Given the description of an element on the screen output the (x, y) to click on. 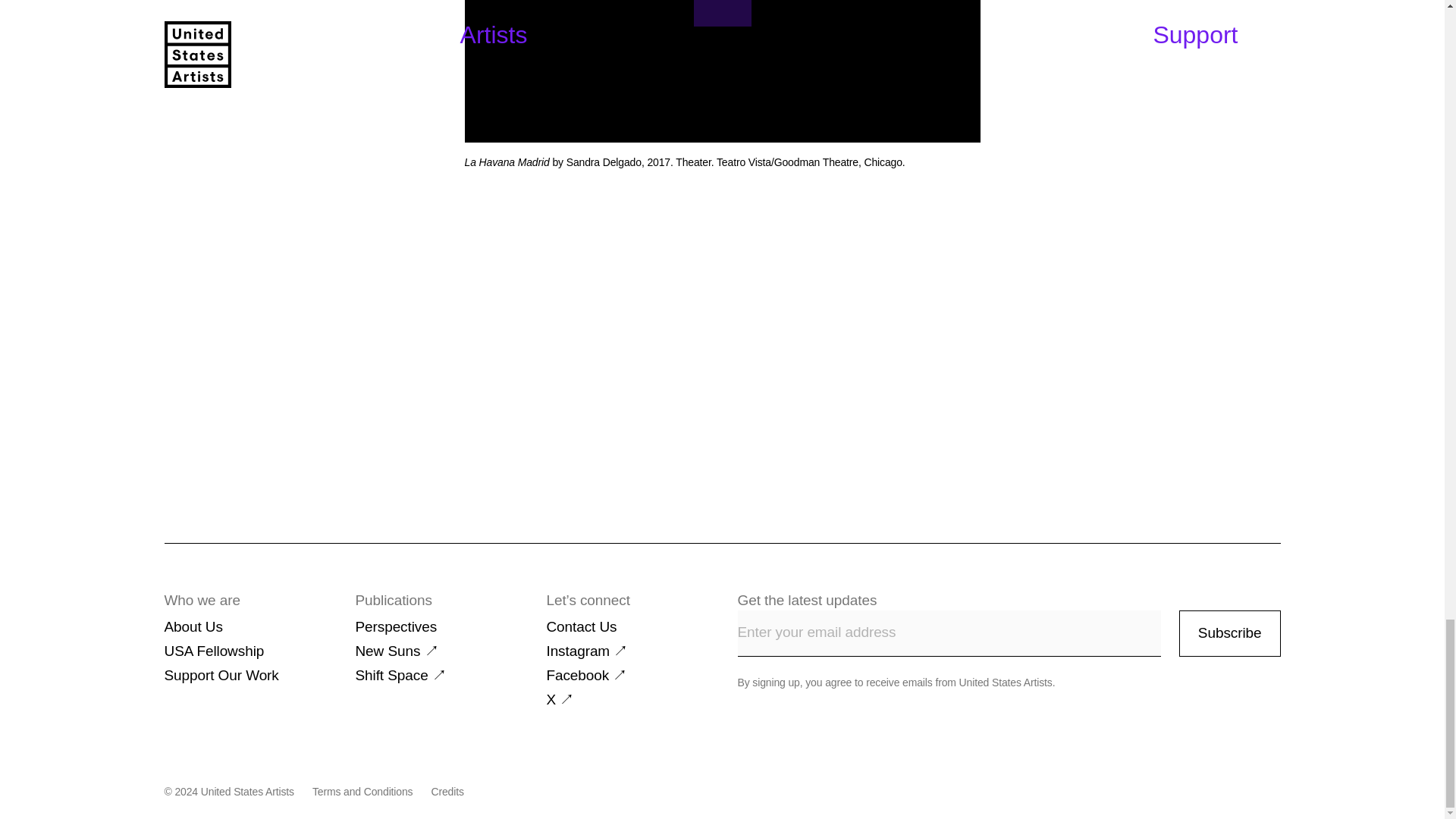
About Us (192, 626)
Subscribe (1230, 633)
USA Fellowship (213, 650)
Support Our Work (220, 675)
Perspectives (395, 626)
